Given the description of an element on the screen output the (x, y) to click on. 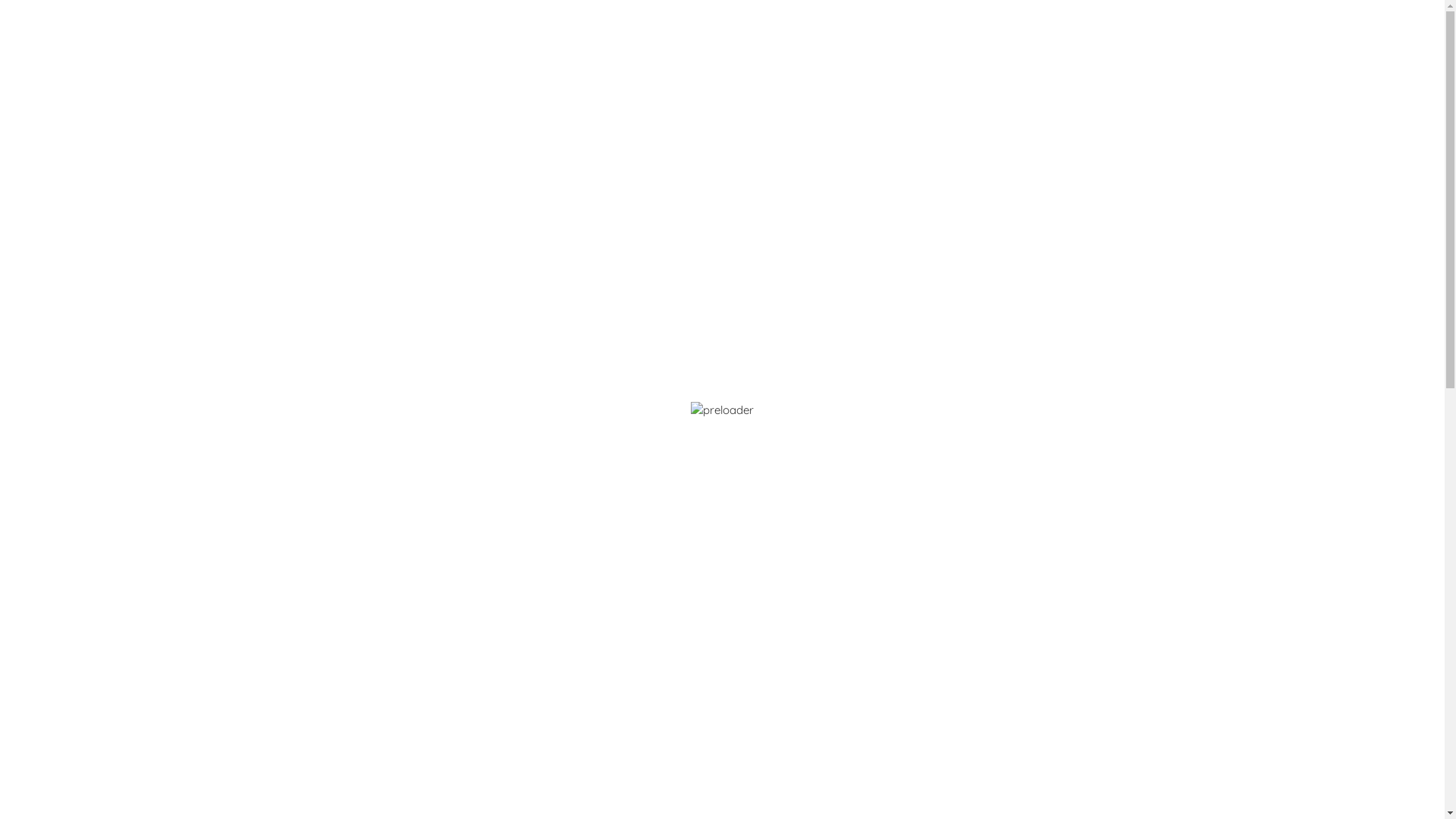
Call now Element type: text (338, 695)
FAQ Element type: text (825, 43)
Add To Cart Element type: text (795, 405)
Contact Element type: text (893, 43)
About Element type: text (317, 177)
Email now Element type: text (343, 729)
Reviews Element type: text (412, 478)
Description Element type: text (337, 478)
Products Element type: text (689, 43)
News Element type: text (764, 43)
About Element type: text (612, 43)
